Given the description of an element on the screen output the (x, y) to click on. 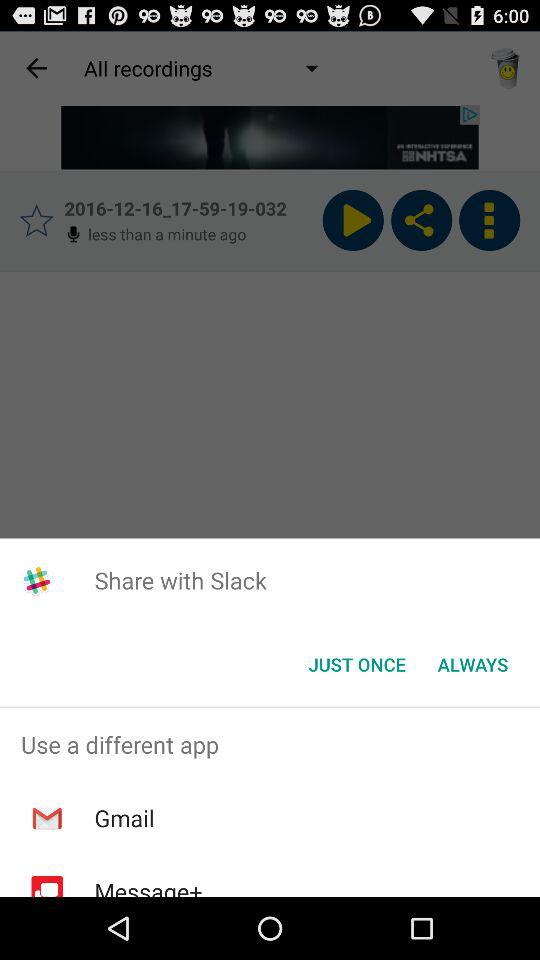
choose the icon below share with slack icon (472, 664)
